Given the description of an element on the screen output the (x, y) to click on. 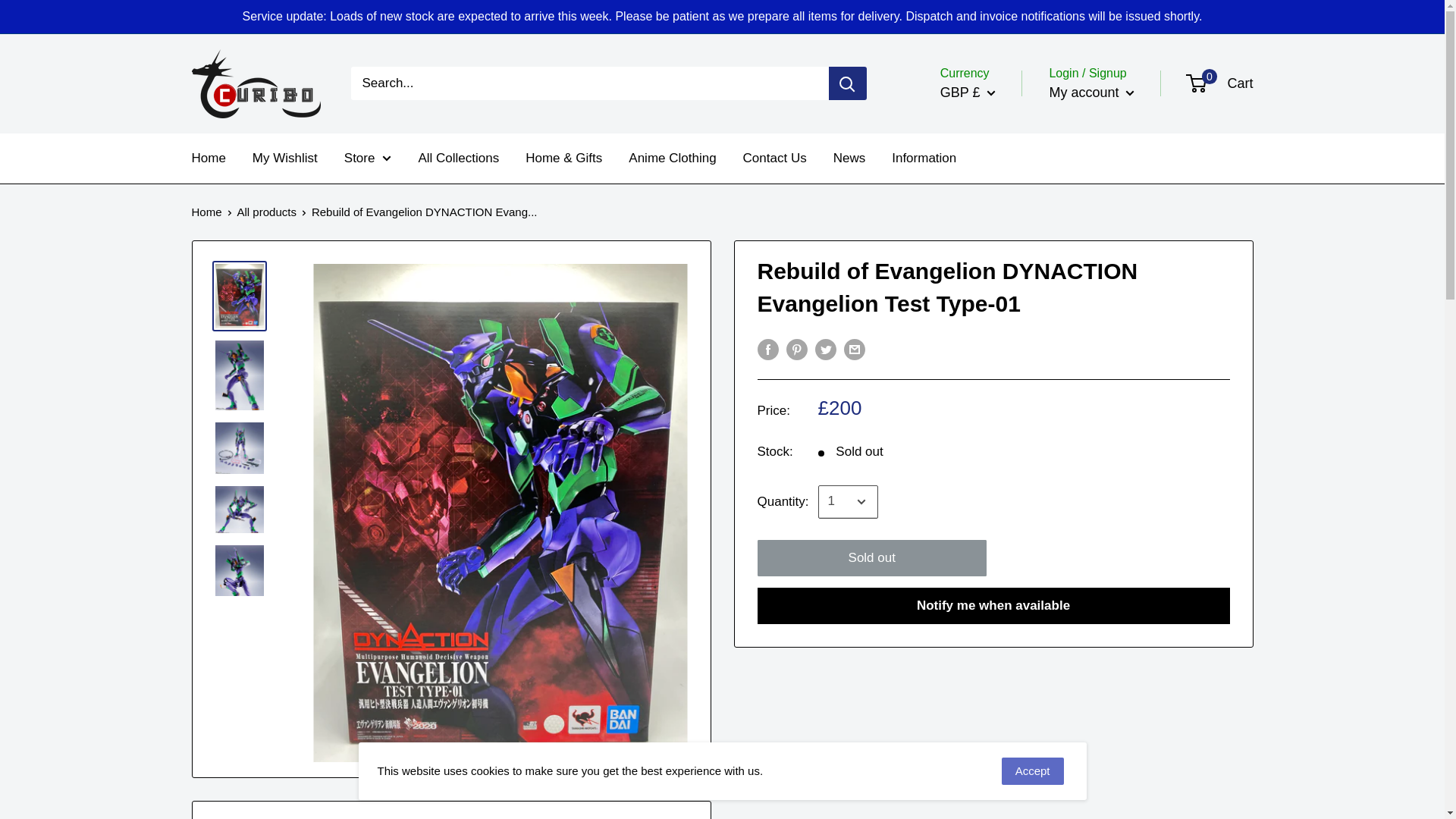
Smile.io Rewards Program Launcher (1374, 780)
